Given the description of an element on the screen output the (x, y) to click on. 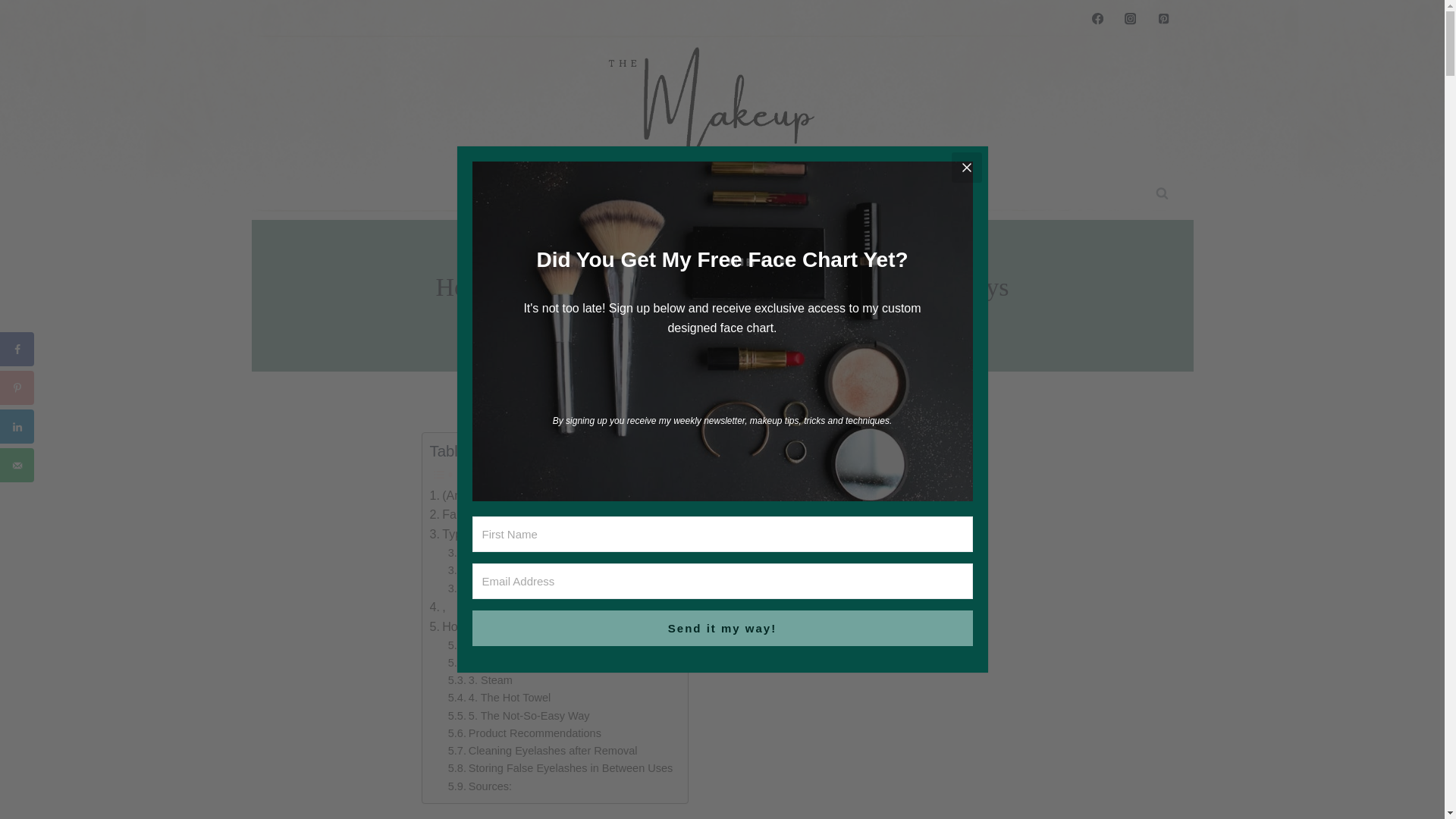
0 Comments (770, 324)
4. The Hot Towel (499, 697)
CONTACT (755, 193)
0 Comments (770, 324)
Product Recommendations (524, 733)
PODCAST (515, 193)
EYELASHES (695, 255)
COURSES AND PRODUCTS (883, 193)
5. The Not-So-Easy Way (518, 715)
Cream Remover (499, 552)
Gel Remover (491, 570)
BLOG (591, 193)
Types of False Eyelash Removers (528, 534)
ABOUT ME (670, 193)
